Given the description of an element on the screen output the (x, y) to click on. 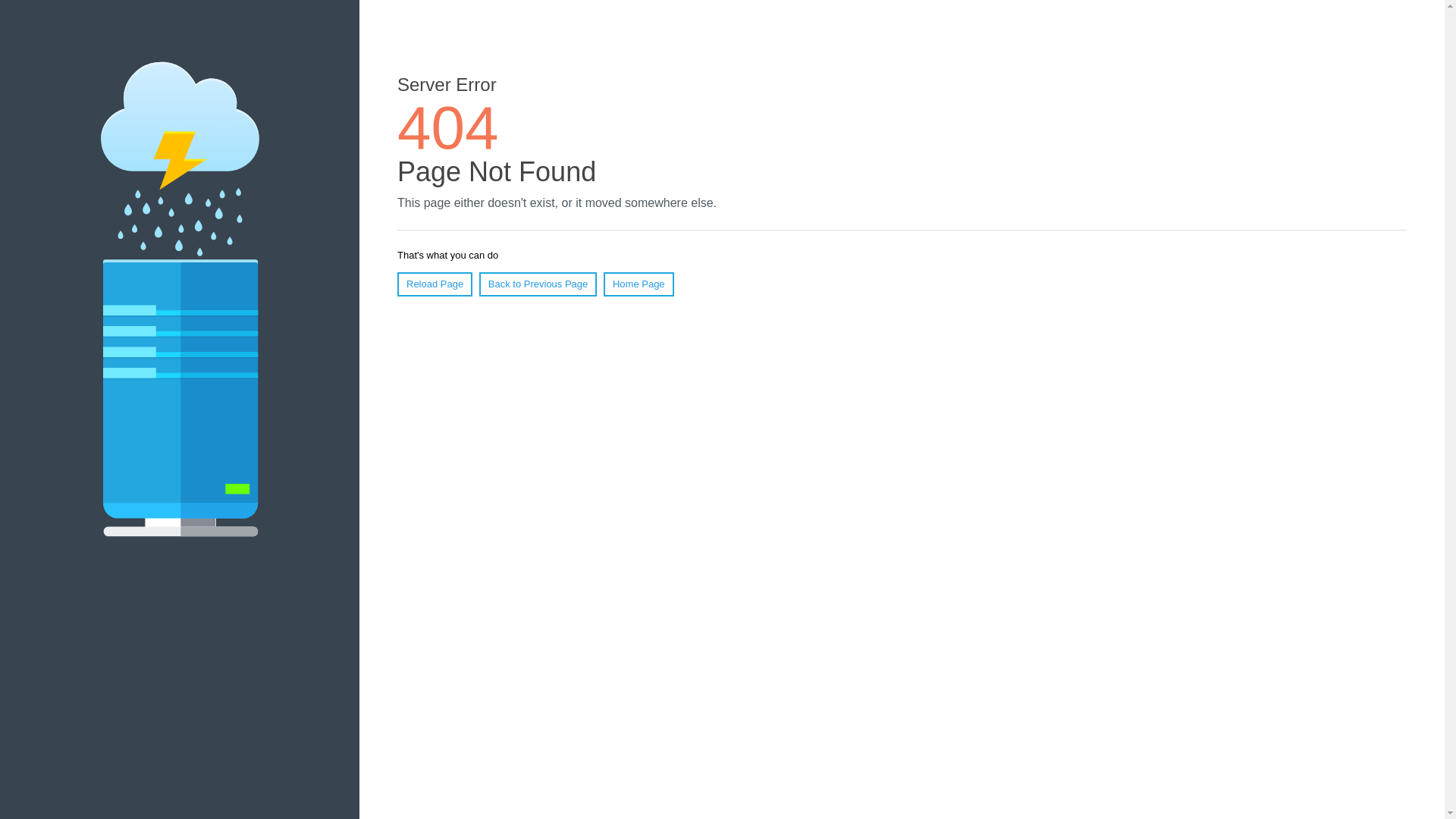
Back to Previous Page Element type: text (538, 284)
Reload Page Element type: text (434, 284)
Home Page Element type: text (638, 284)
